Given the description of an element on the screen output the (x, y) to click on. 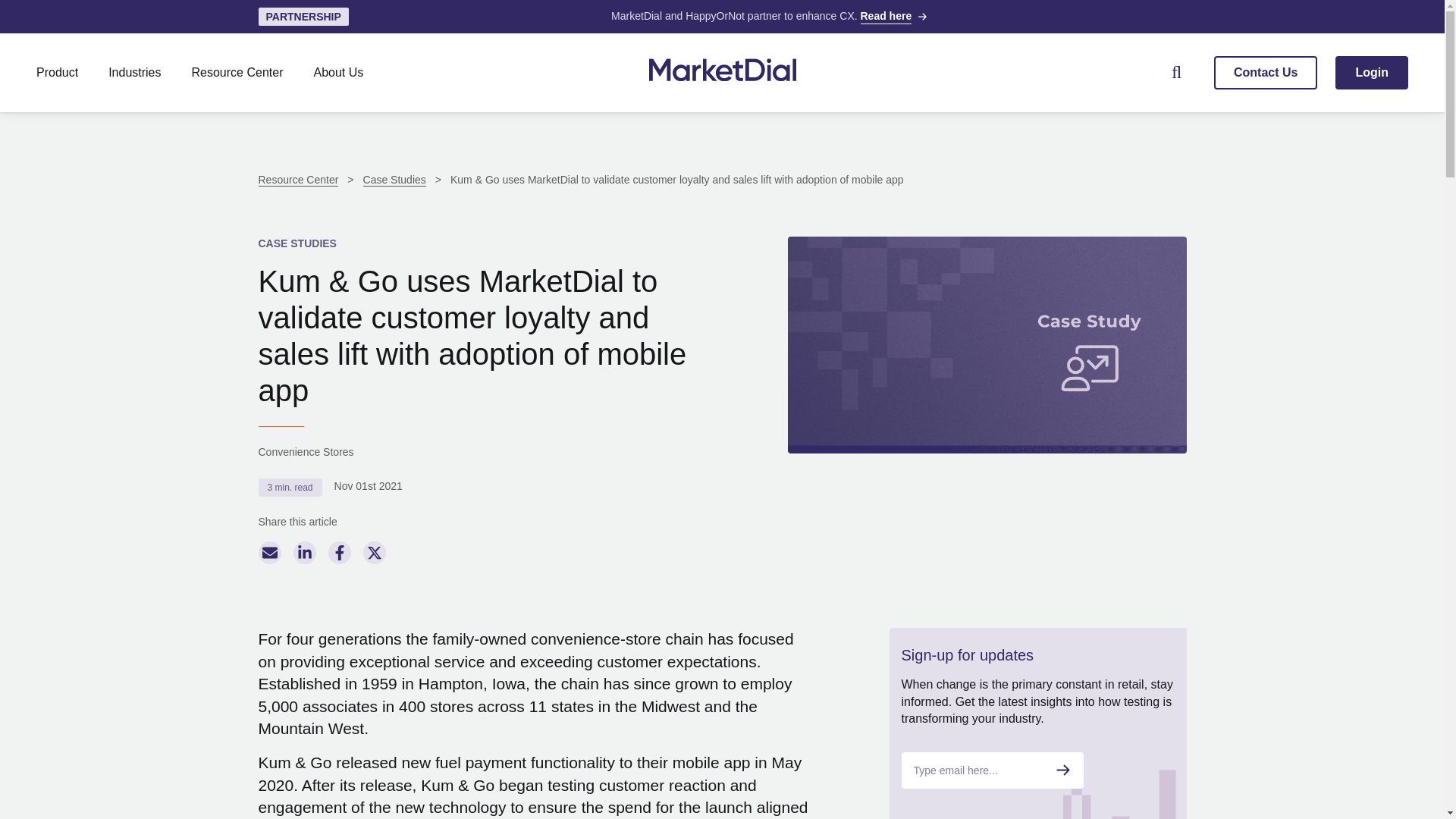
Contact Us (1265, 72)
Submit (1063, 770)
Login (1371, 72)
Resource Center (237, 72)
Read here (885, 16)
Product (57, 72)
Industries (134, 72)
About Us (338, 72)
